Given the description of an element on the screen output the (x, y) to click on. 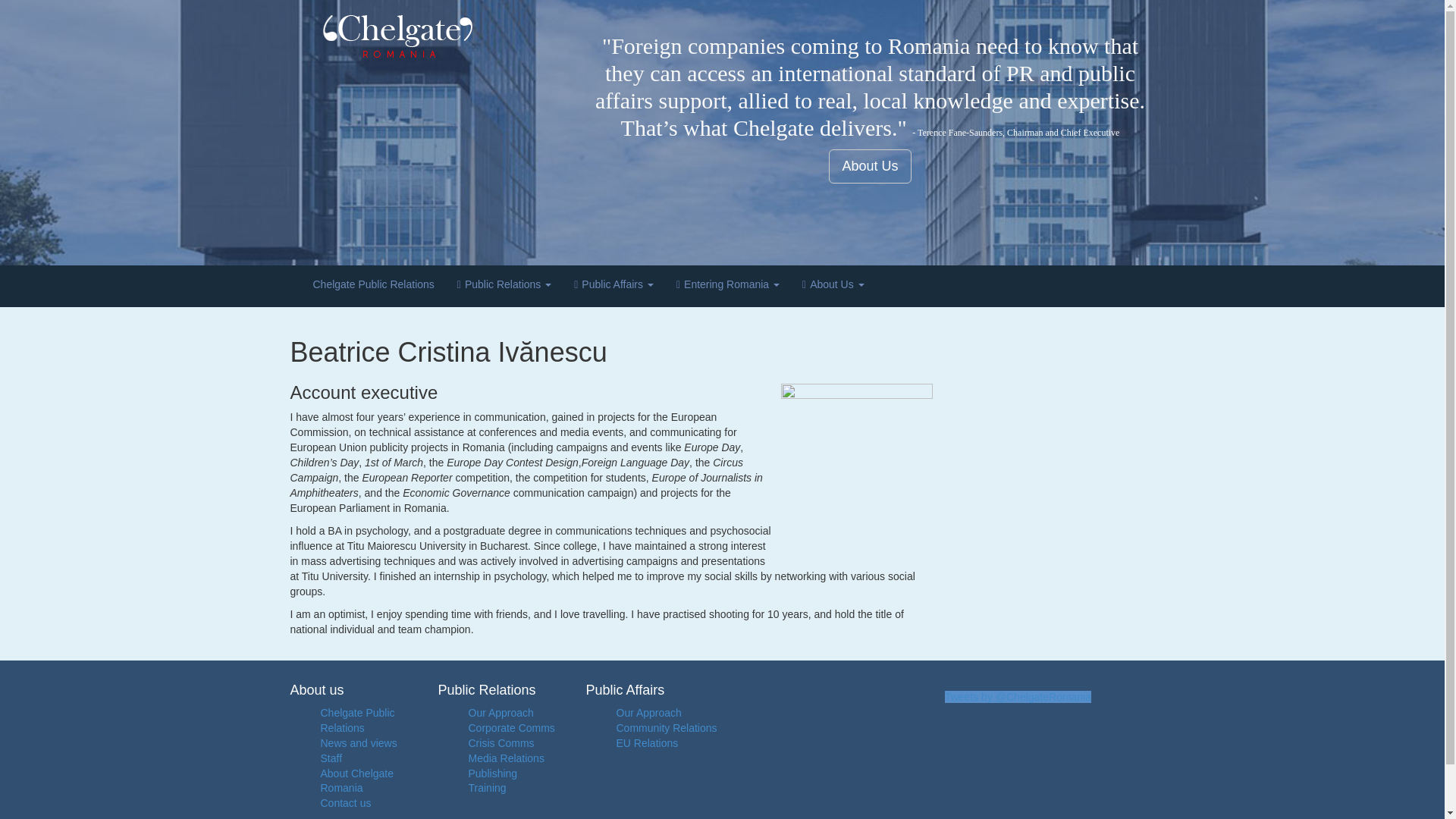
Corporate Comms (511, 727)
Public Relations (503, 286)
Contact us (345, 802)
Chelgate Public Relations (373, 286)
Entering Romania (727, 286)
About Us (869, 165)
Publishing (493, 773)
Chelgate (433, 36)
About Us (833, 286)
Our Approach (501, 712)
Public Affairs (613, 286)
Training (487, 787)
News and views (358, 743)
Chelgate Public Relations (357, 719)
Media Relations (506, 758)
